Given the description of an element on the screen output the (x, y) to click on. 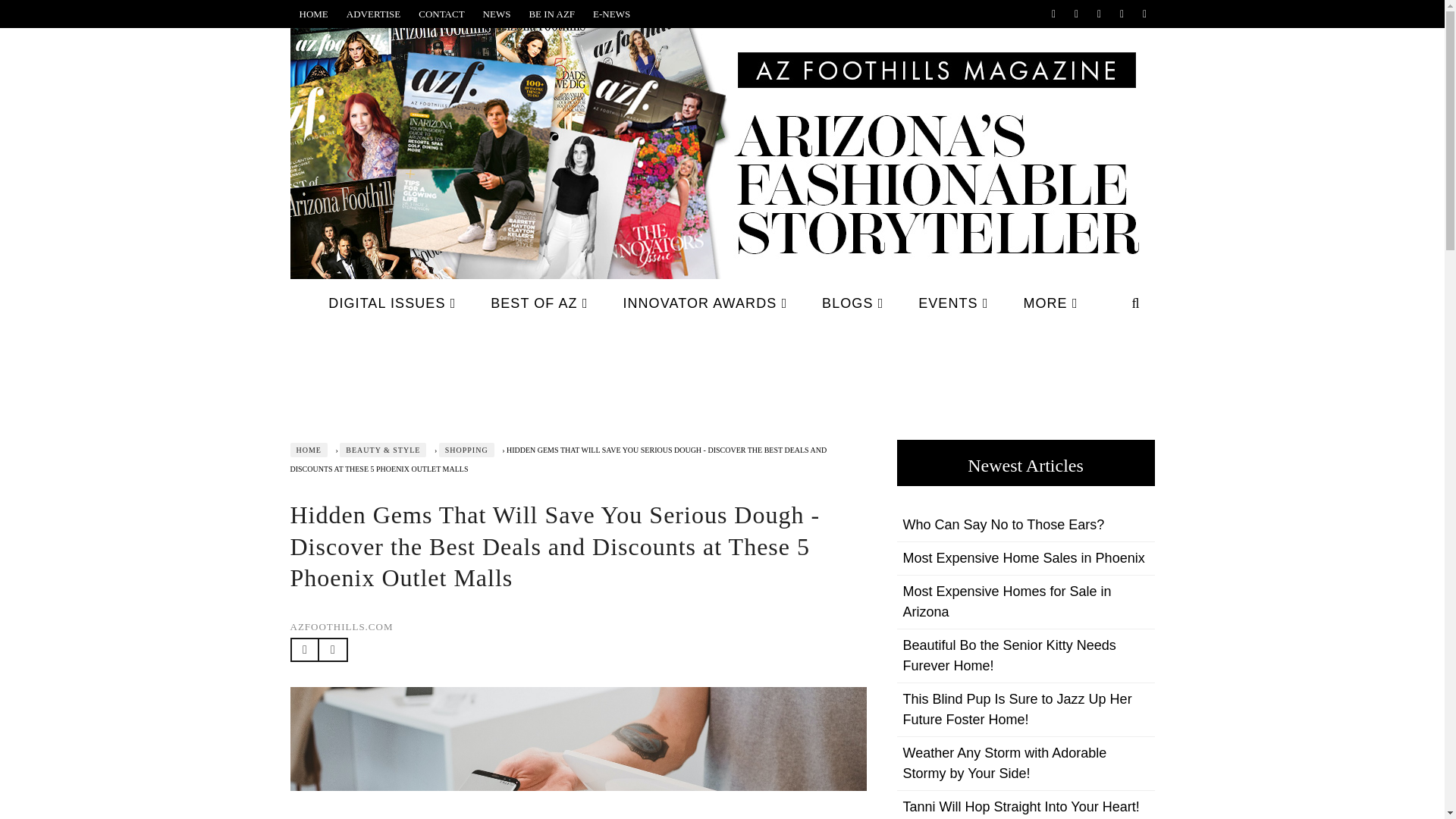
NEWS (497, 13)
DIGITAL ISSUES (392, 303)
CONTACT (441, 13)
BEST OF AZ (539, 303)
ADVERTISE (373, 13)
HOME (312, 13)
E-NEWS (611, 13)
BE IN AZF (551, 13)
